Given the description of an element on the screen output the (x, y) to click on. 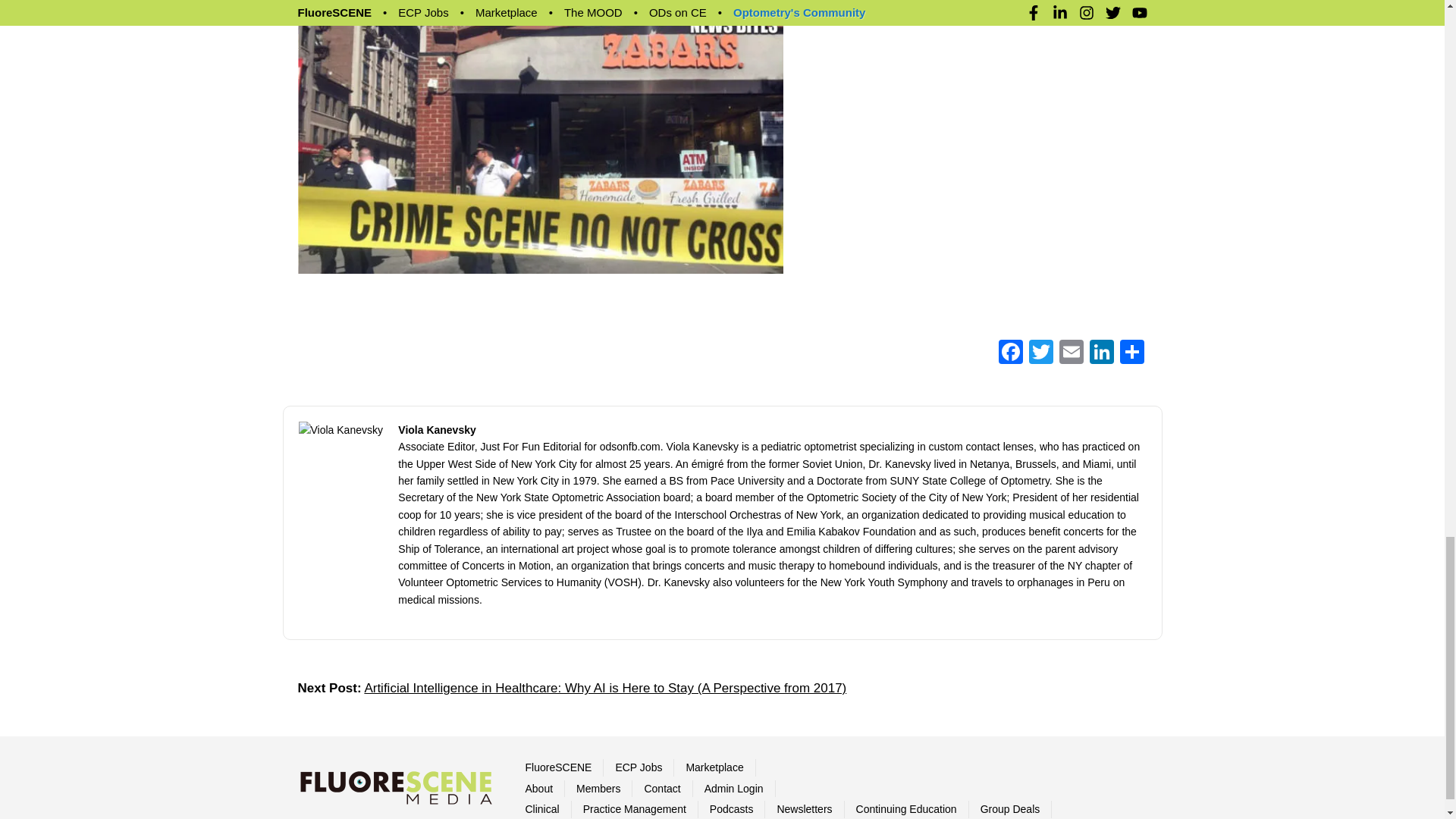
Facebook (1009, 353)
Twitter (1040, 353)
Twitter (1040, 353)
Podcasts (732, 808)
Email (1070, 353)
Members (598, 788)
Marketplace (713, 767)
FluoreSCENE (557, 767)
Email (1070, 353)
Contact (661, 788)
LinkedIn (1101, 353)
Practice Management (634, 808)
Clinical (541, 808)
Admin Login (733, 788)
Newsletters (803, 808)
